Given the description of an element on the screen output the (x, y) to click on. 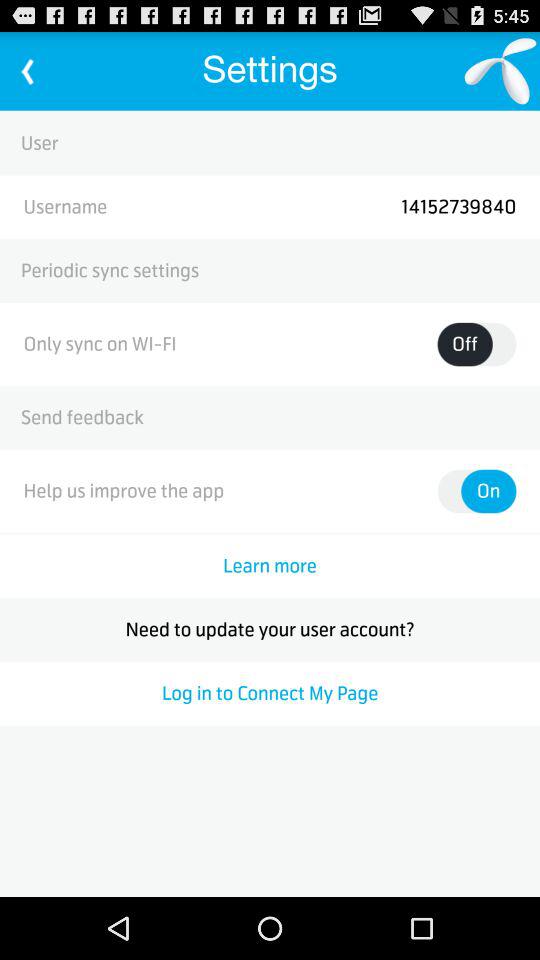
tap icon at the bottom (270, 693)
